Given the description of an element on the screen output the (x, y) to click on. 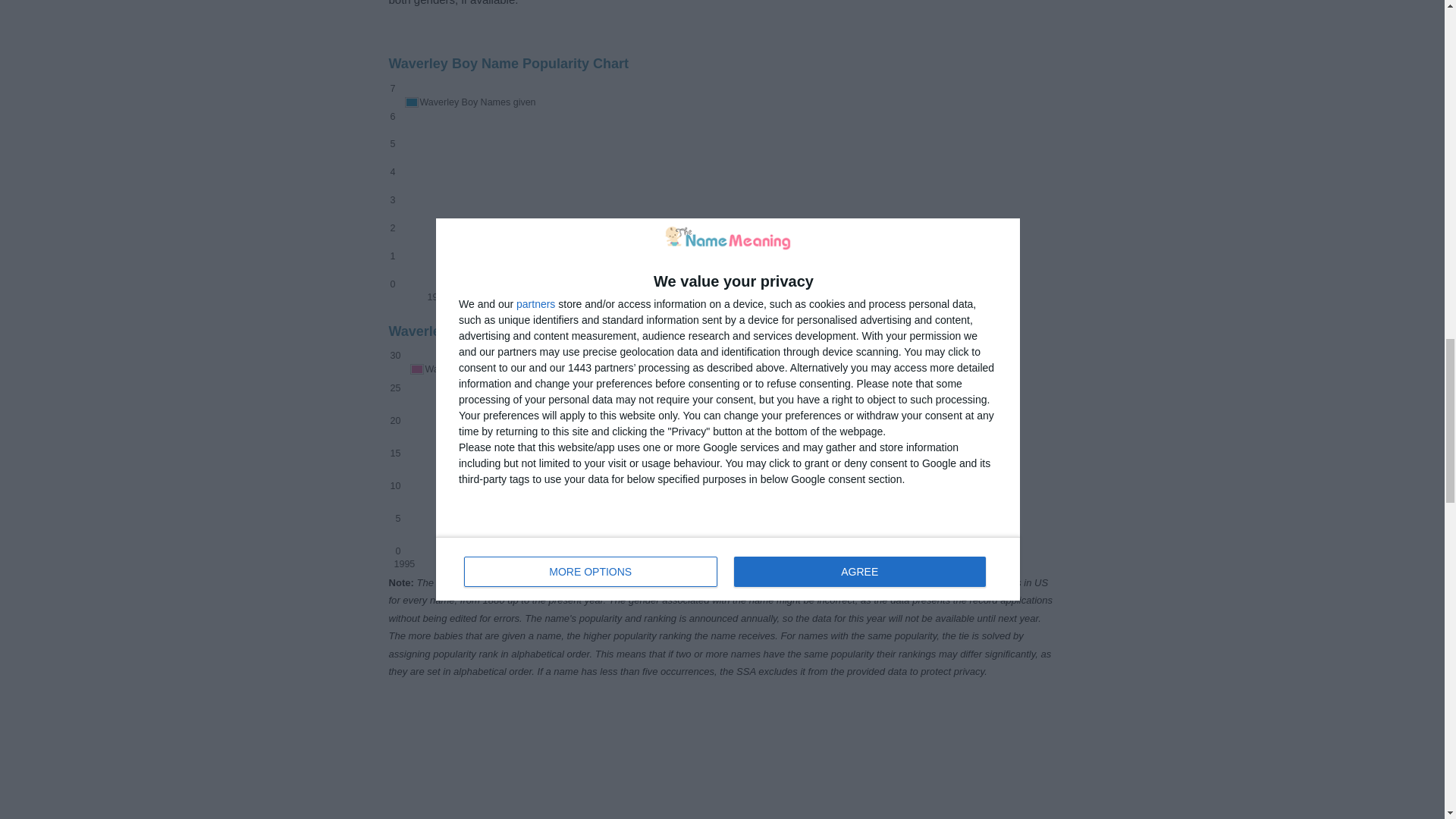
here (799, 582)
